Given the description of an element on the screen output the (x, y) to click on. 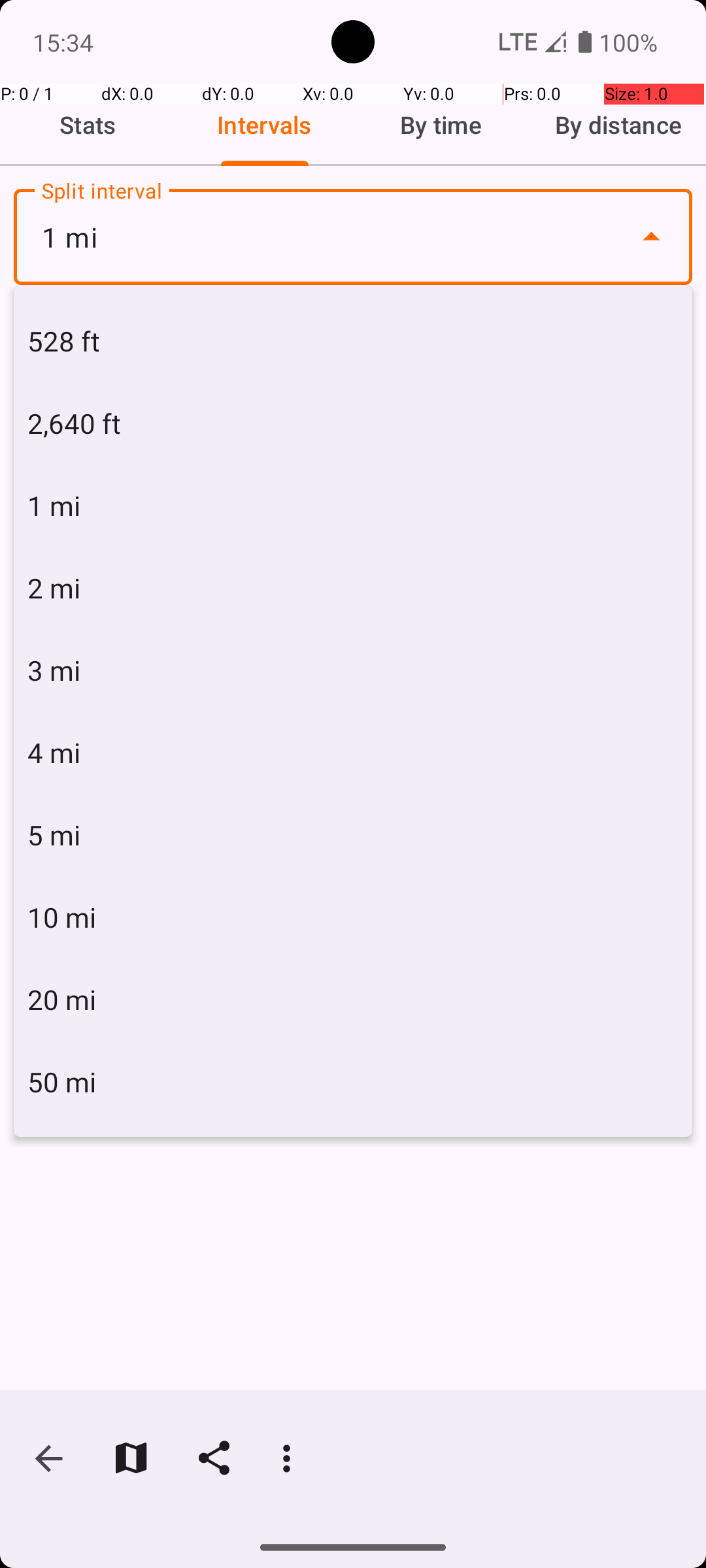
PACE Element type: android.widget.TextView (352, 328)
0:00 min/mi Element type: android.widget.TextView (352, 408)
528 ft Element type: android.widget.CheckedTextView (352, 340)
2,640 ft Element type: android.widget.CheckedTextView (352, 423)
2 mi Element type: android.widget.CheckedTextView (352, 587)
3 mi Element type: android.widget.CheckedTextView (352, 670)
4 mi Element type: android.widget.CheckedTextView (352, 752)
5 mi Element type: android.widget.CheckedTextView (352, 834)
10 mi Element type: android.widget.CheckedTextView (352, 917)
20 mi Element type: android.widget.CheckedTextView (352, 999)
50 mi Element type: android.widget.CheckedTextView (352, 1081)
